Given the description of an element on the screen output the (x, y) to click on. 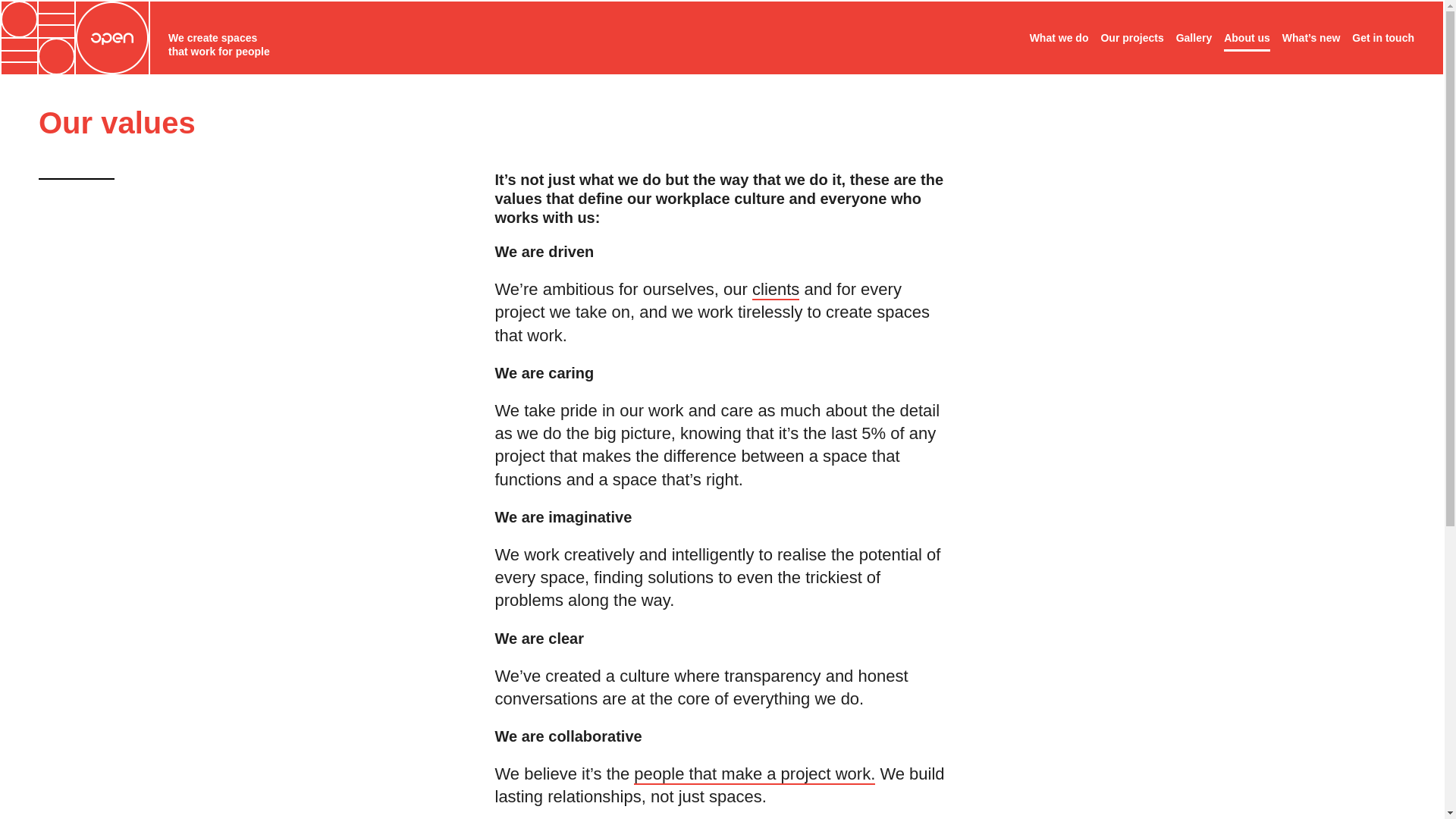
Get in touch (1383, 37)
people that make a project work. (754, 774)
clients (775, 290)
Our projects (1131, 37)
What we do (1058, 37)
